Given the description of an element on the screen output the (x, y) to click on. 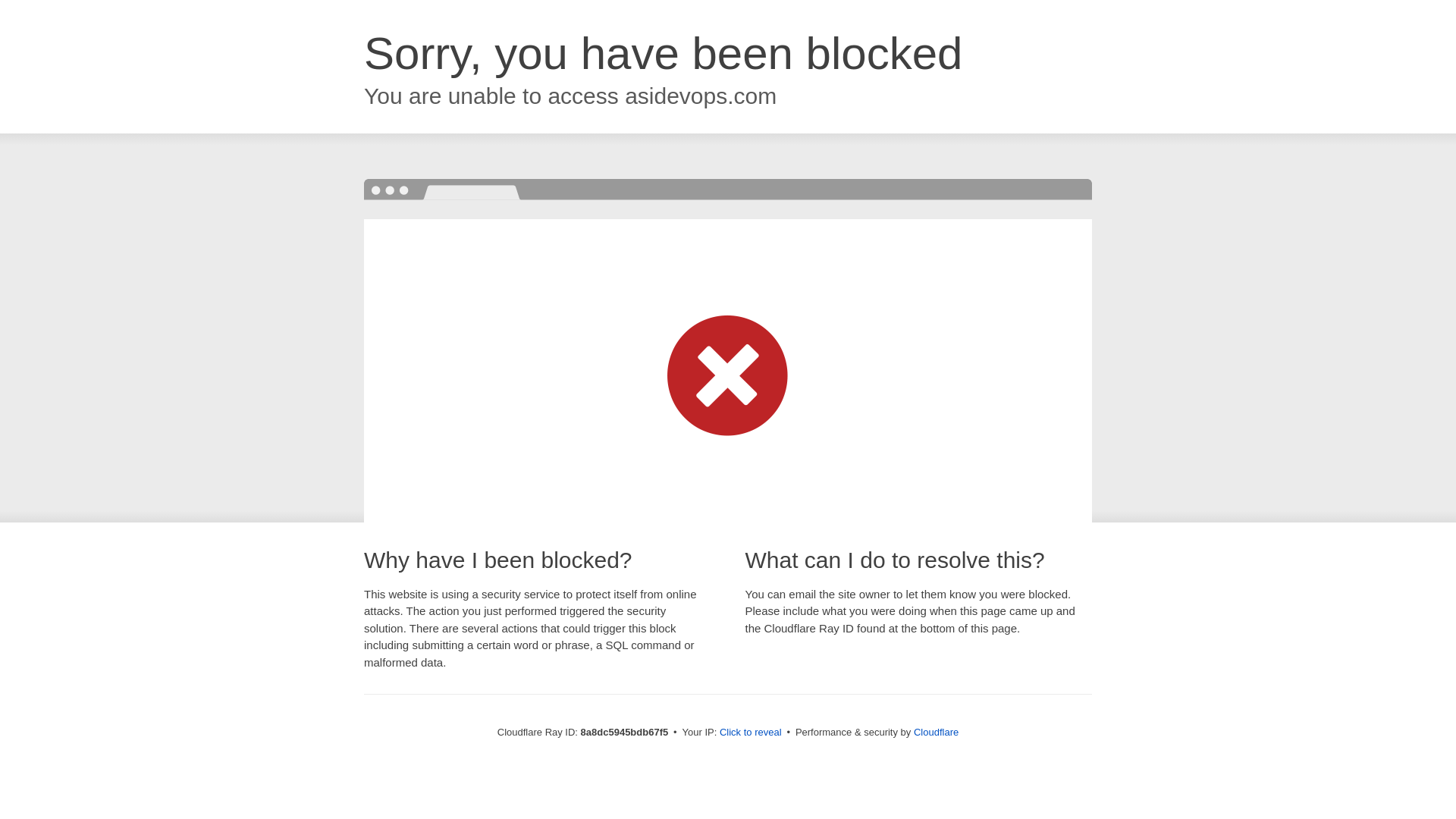
Click to reveal (750, 732)
Cloudflare (936, 731)
